Given the description of an element on the screen output the (x, y) to click on. 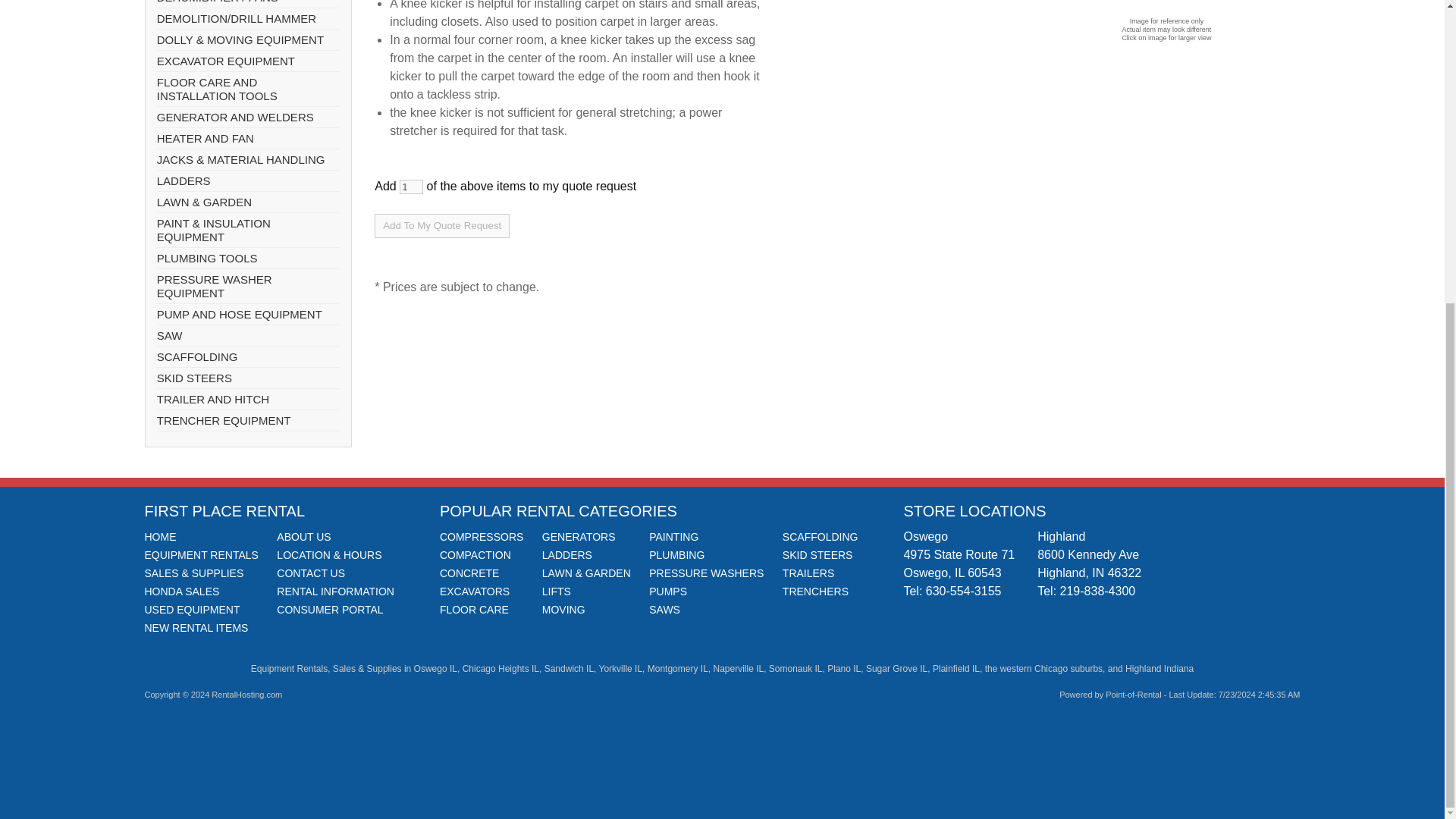
Add To My Quote Request (441, 225)
LADDERS (248, 180)
FLOOR CARE AND INSTALLATION TOOLS (248, 89)
EXCAVATOR EQUIPMENT (248, 61)
GENERATOR AND WELDERS (248, 117)
HEATER AND FAN (248, 138)
PLUMBING TOOLS (248, 258)
1 (410, 186)
